Given the description of an element on the screen output the (x, y) to click on. 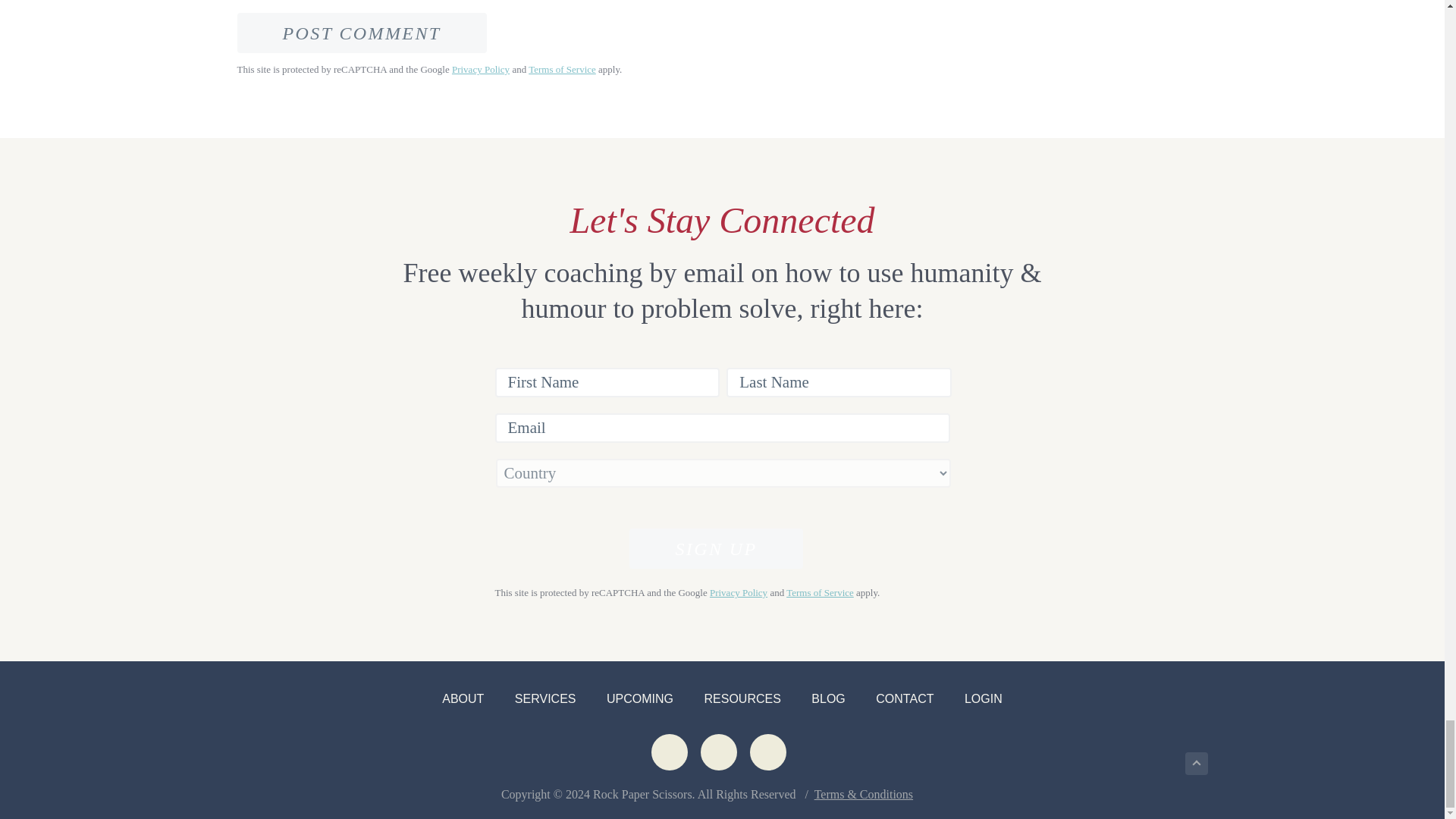
Privacy Policy (480, 69)
Post Comment (360, 33)
Terms of Service (561, 69)
Post Comment (360, 33)
Sign Up (715, 548)
